Given the description of an element on the screen output the (x, y) to click on. 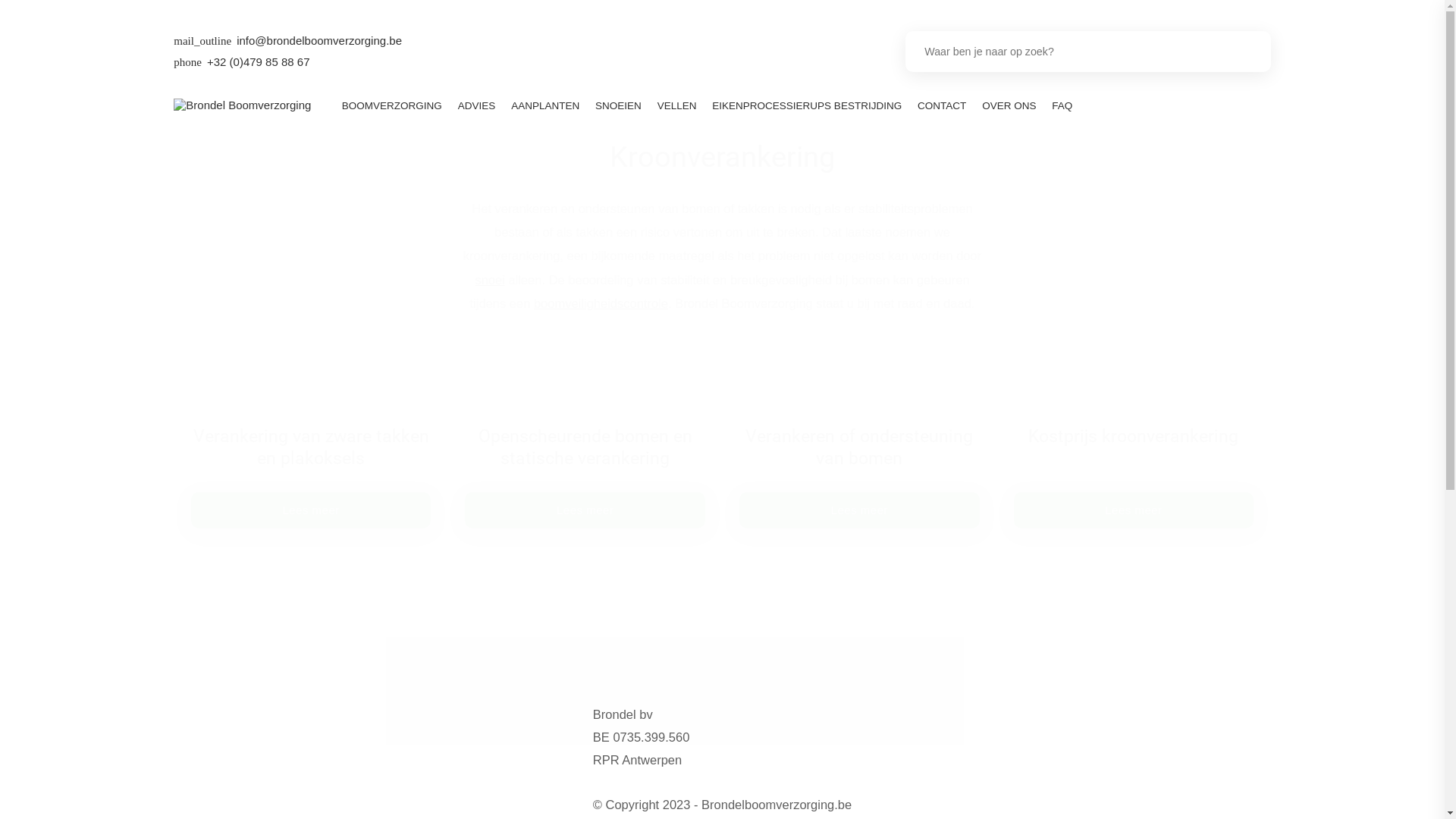
Share via twitter Element type: hover (760, 690)
snoei Element type: text (489, 279)
Share via mail Element type: hover (823, 690)
EIKENPROCESSIERUPS BESTRIJDING Element type: text (807, 105)
SNOEIEN Element type: text (618, 105)
FAQ Element type: text (1061, 105)
CONTACT Element type: text (941, 105)
OVER ONS Element type: text (1009, 105)
phone
+32 (0)479 85 88 67 Element type: text (241, 61)
Lees meer Element type: text (311, 509)
Brondel Boomverzorging Element type: hover (241, 104)
ADVIES Element type: text (476, 105)
Share via linkedin Element type: hover (792, 690)
BOOMVERZORGING Element type: text (391, 105)
Lees meer Element type: text (859, 509)
Share via facebook Element type: hover (728, 690)
Lees meer Element type: text (1133, 509)
AANPLANTEN Element type: text (545, 105)
VELLEN Element type: text (676, 105)
boomveiligheidscontrole Element type: text (600, 303)
Lees meer Element type: text (584, 509)
Share via whatsapp Element type: hover (855, 690)
mail_outline
info@brondelboomverzorging.be Element type: text (287, 40)
